Given the description of an element on the screen output the (x, y) to click on. 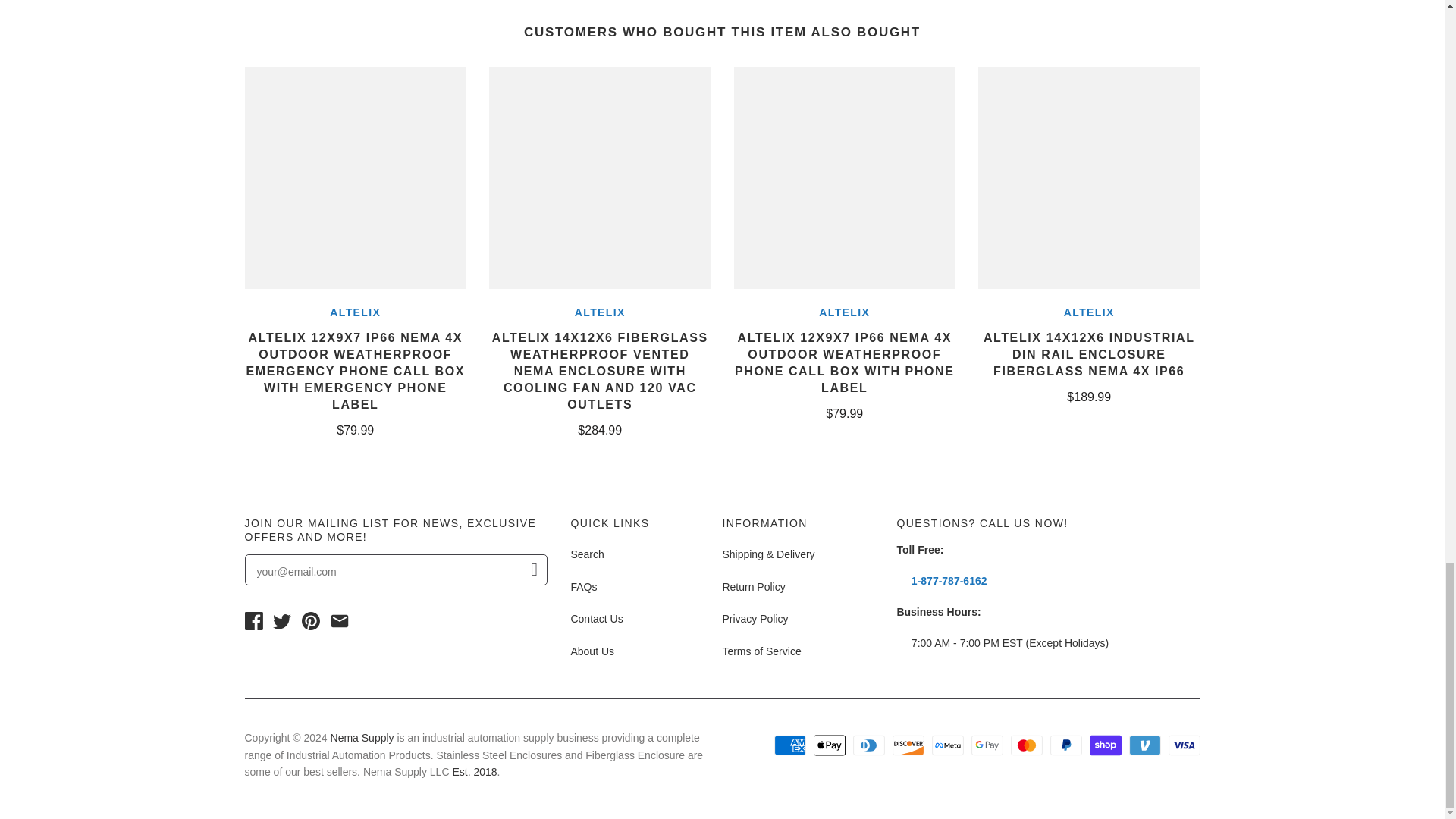
Mastercard (1026, 745)
Diners Club (867, 745)
Altelix (1089, 311)
Altelix (843, 311)
Visa (1183, 745)
Mail (339, 620)
Altelix (355, 311)
PayPal (1065, 745)
Altelix (600, 311)
Twitter (282, 620)
Facebook (253, 620)
Venmo (1144, 745)
Discover (907, 745)
Meta Pay (946, 745)
Google Pay (987, 745)
